Given the description of an element on the screen output the (x, y) to click on. 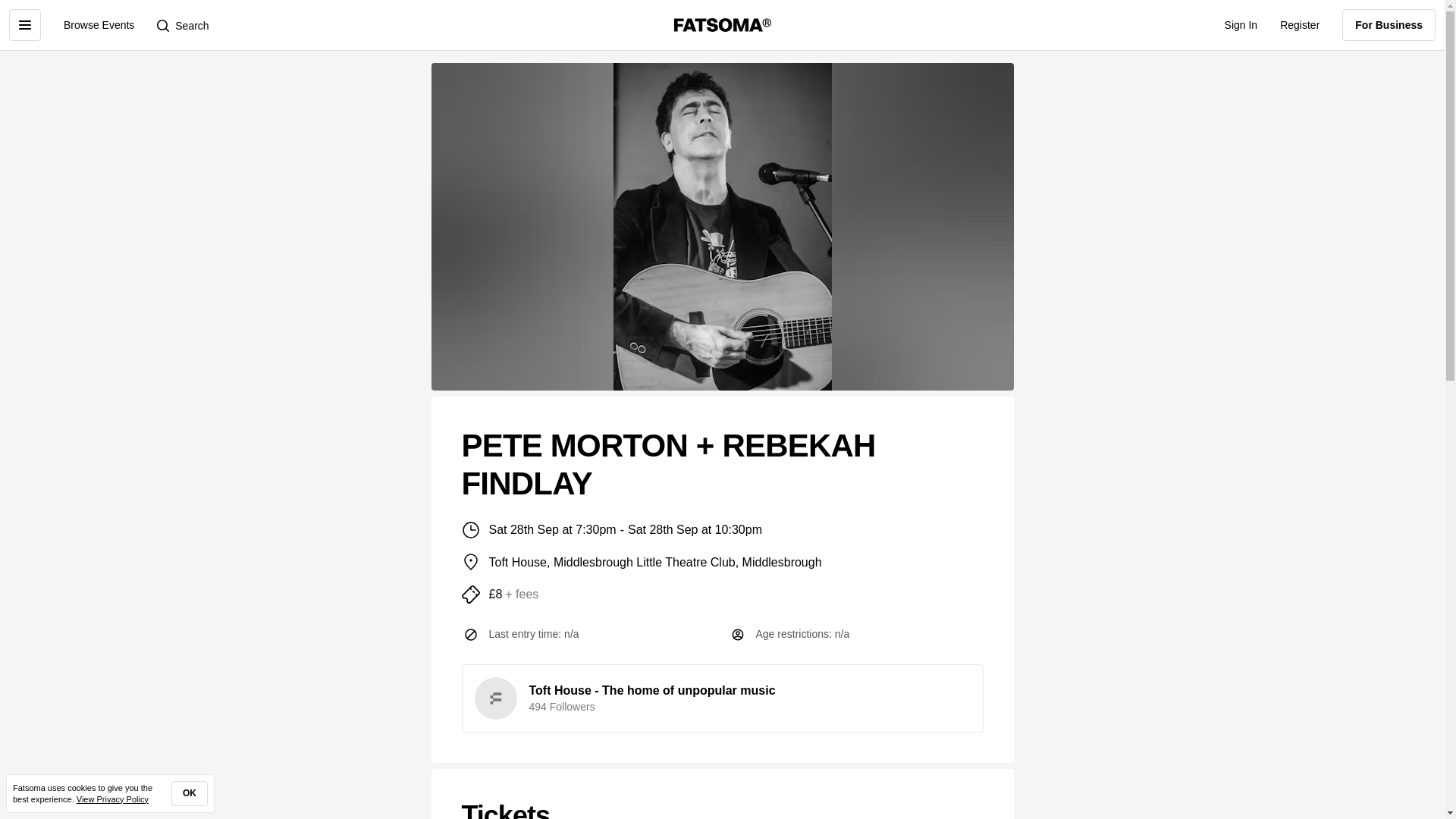
Sign In (1240, 24)
OK (189, 793)
Toft House - The home of unpopular music (652, 690)
View Privacy Policy (112, 798)
Register (1299, 24)
Search (182, 24)
For Business (1388, 24)
Browse Events (98, 24)
